Given the description of an element on the screen output the (x, y) to click on. 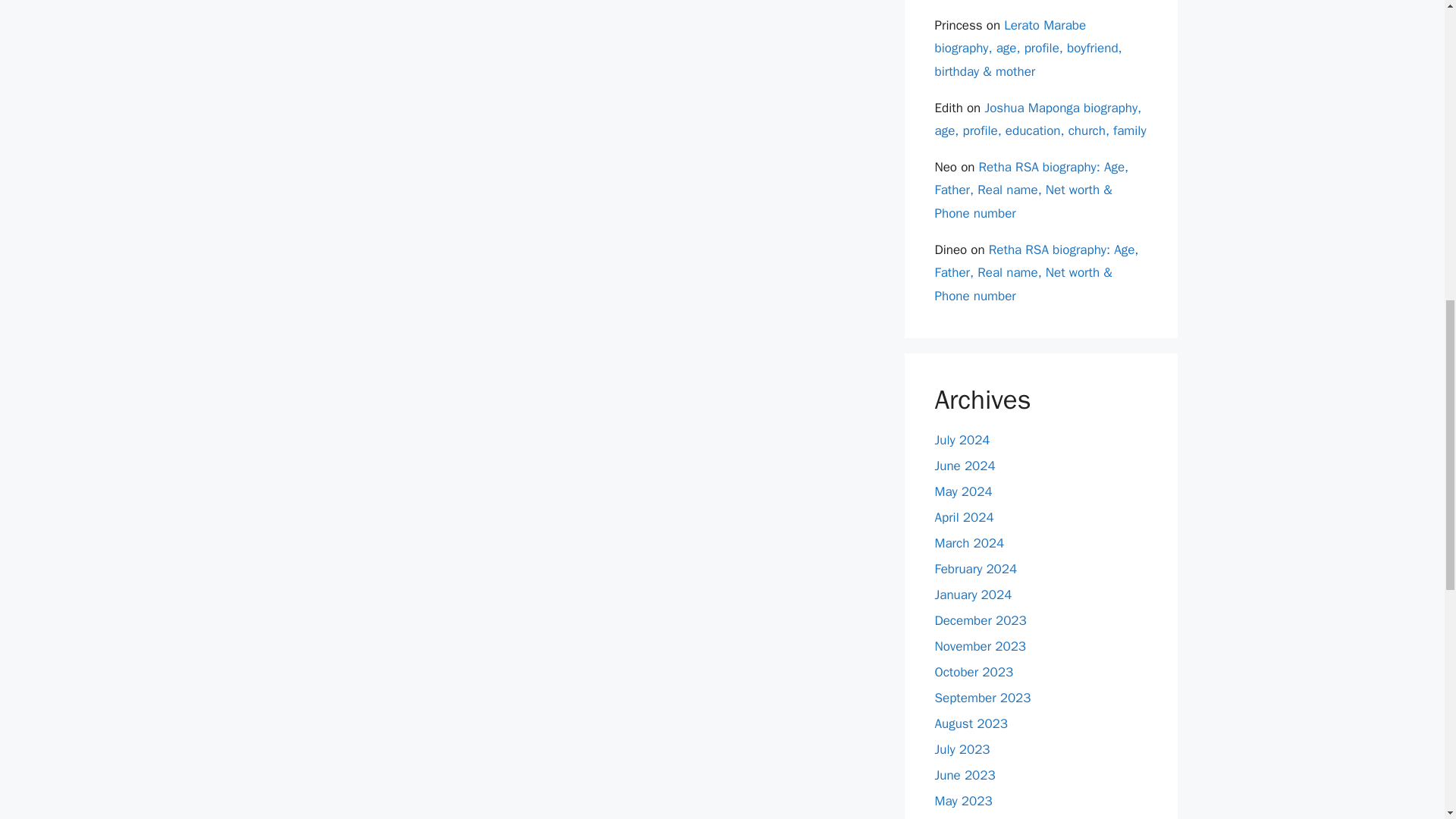
July 2024 (962, 439)
September 2023 (982, 697)
May 2023 (962, 801)
August 2023 (970, 723)
June 2023 (964, 774)
March 2024 (969, 543)
November 2023 (980, 646)
July 2023 (962, 749)
April 2024 (963, 517)
